Given the description of an element on the screen output the (x, y) to click on. 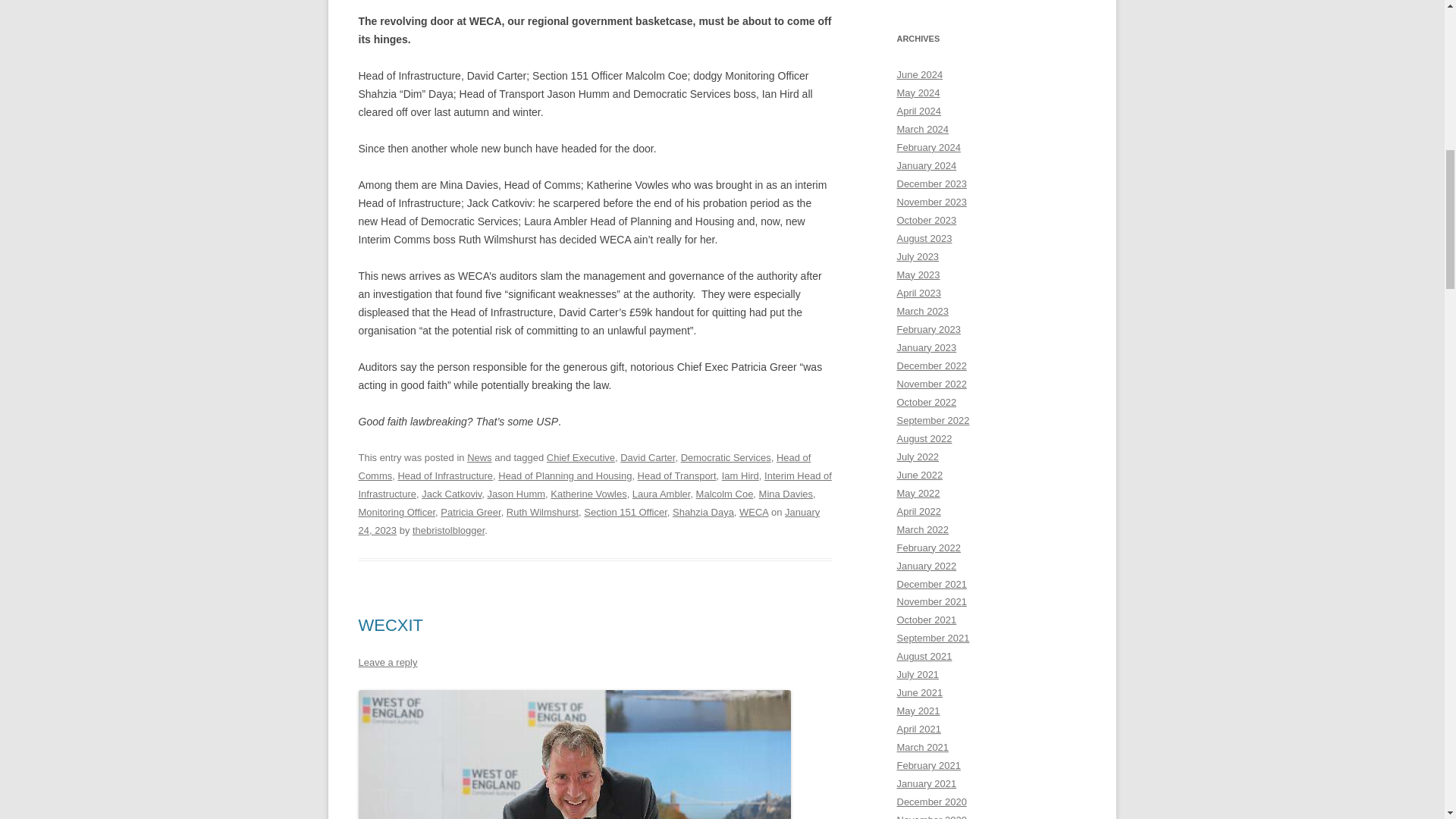
Katherine Vowles (588, 493)
WECXIT (390, 624)
Malcolm Coe (724, 493)
David Carter (647, 457)
Ruth Wilmshurst (542, 511)
View all posts by thebristolblogger (448, 530)
Head of Planning and Housing (564, 475)
Monitoring Officer (396, 511)
thebristolblogger (448, 530)
Section 151 Officer (624, 511)
